Given the description of an element on the screen output the (x, y) to click on. 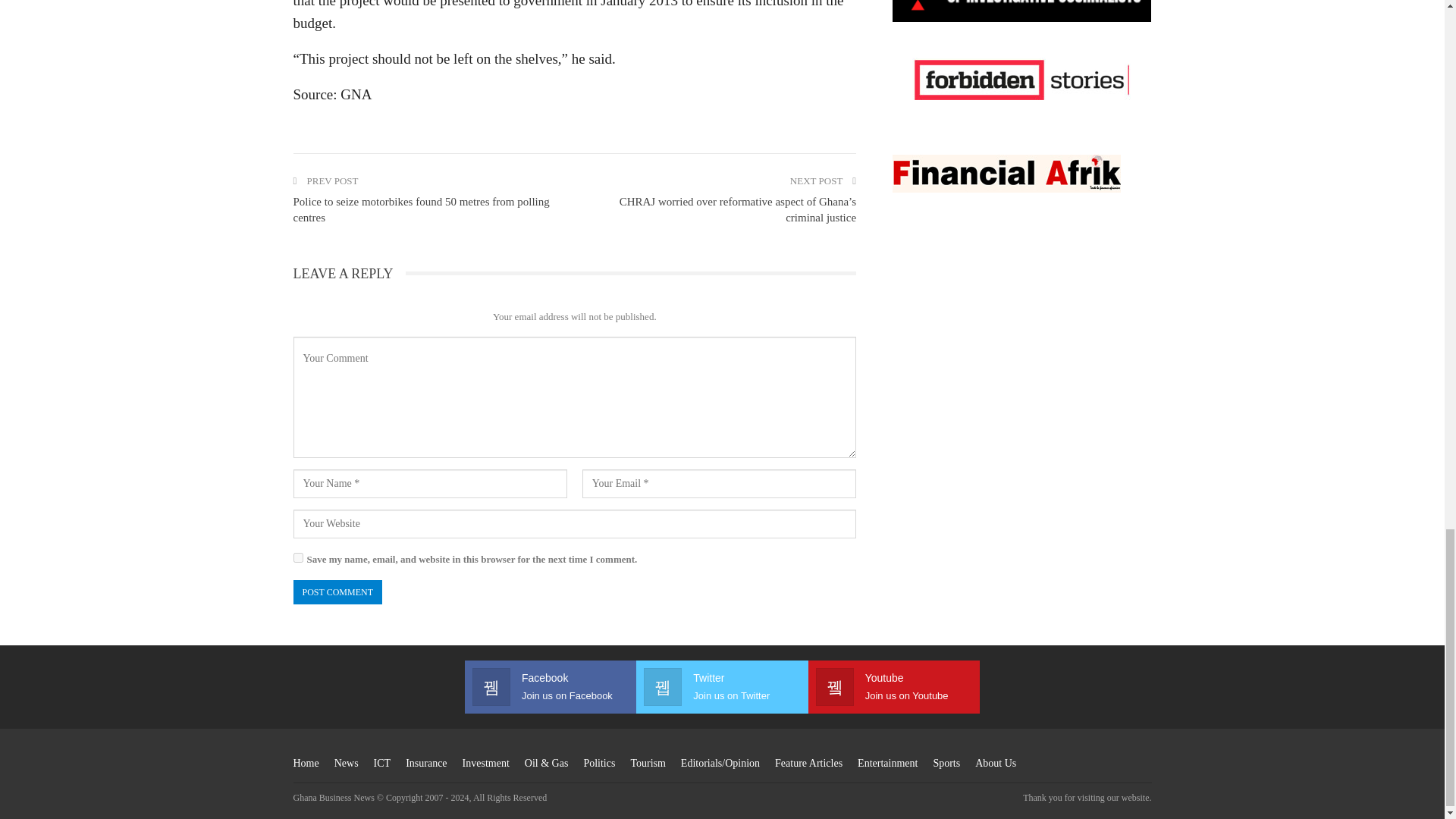
Post Comment (336, 591)
yes (297, 557)
